Given the description of an element on the screen output the (x, y) to click on. 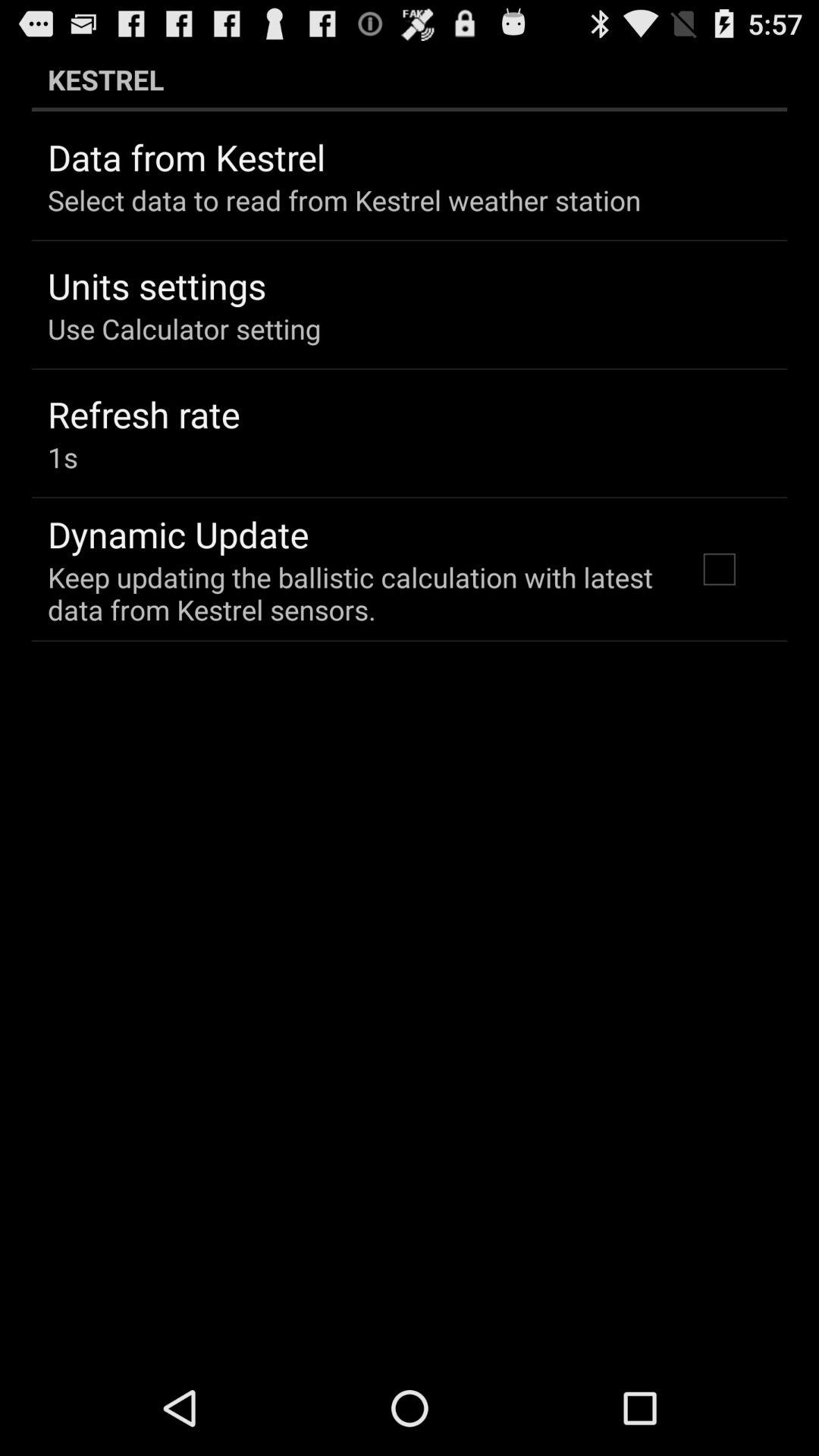
select app next to the keep updating the app (719, 569)
